Given the description of an element on the screen output the (x, y) to click on. 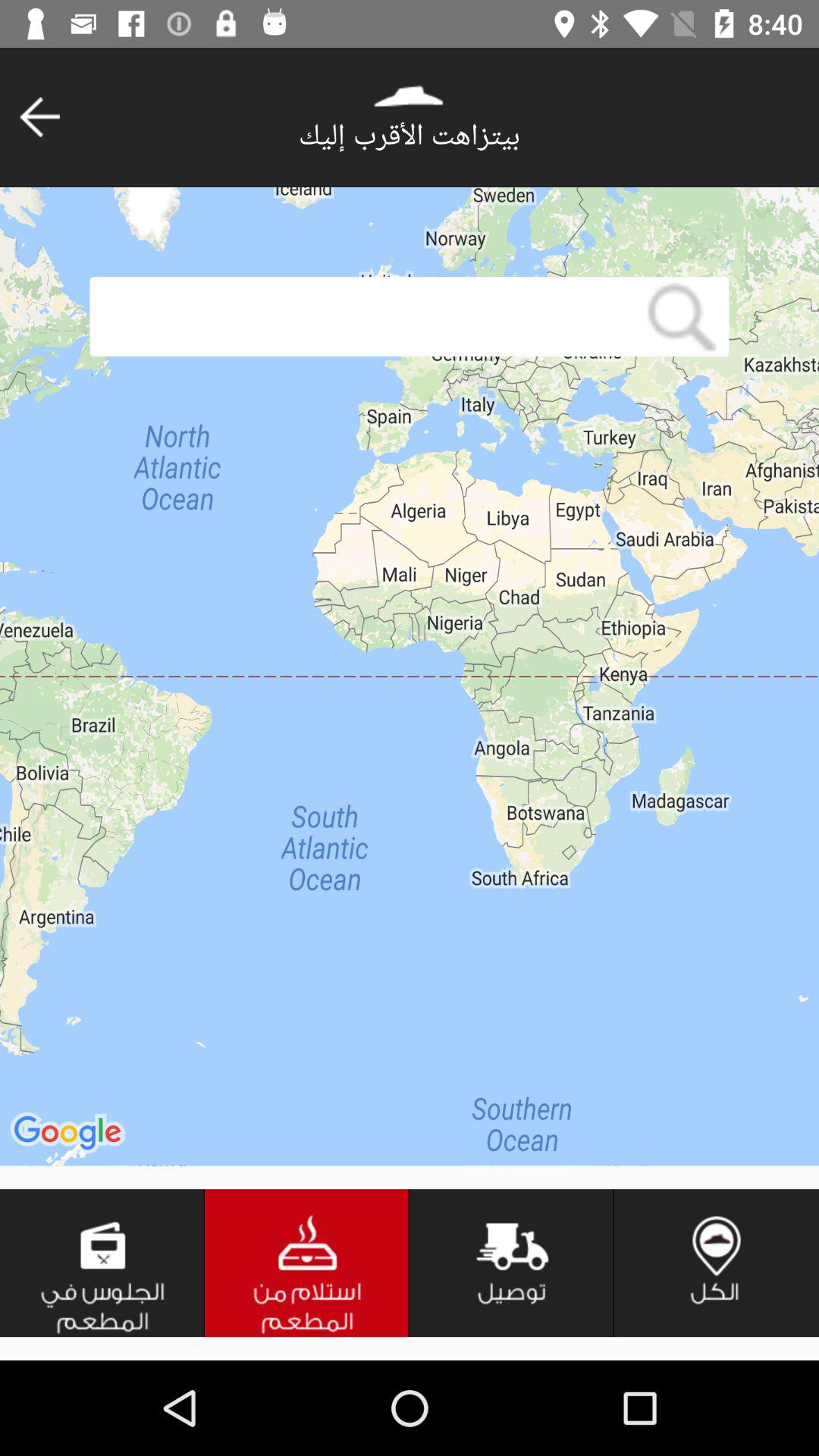
click on the search button (681, 316)
